Given the description of an element on the screen output the (x, y) to click on. 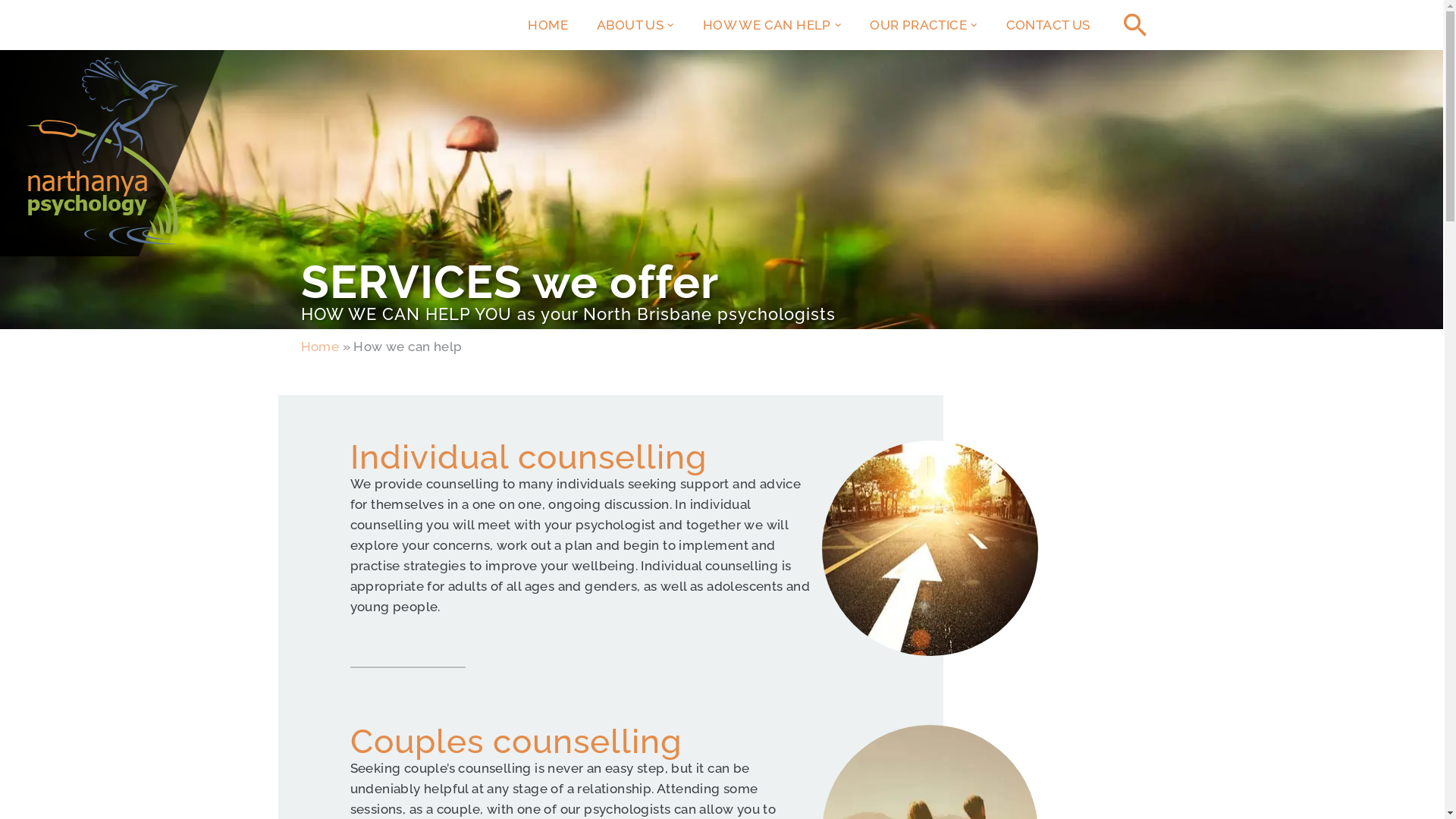
Skip to content Element type: text (11, 31)
OUR PRACTICE Element type: text (917, 24)
CONTACT US Element type: text (1048, 24)
HOME Element type: text (547, 24)
Home Element type: text (320, 353)
HOW WE CAN HELP Element type: text (766, 24)
ABOUT US Element type: text (629, 24)
